Given the description of an element on the screen output the (x, y) to click on. 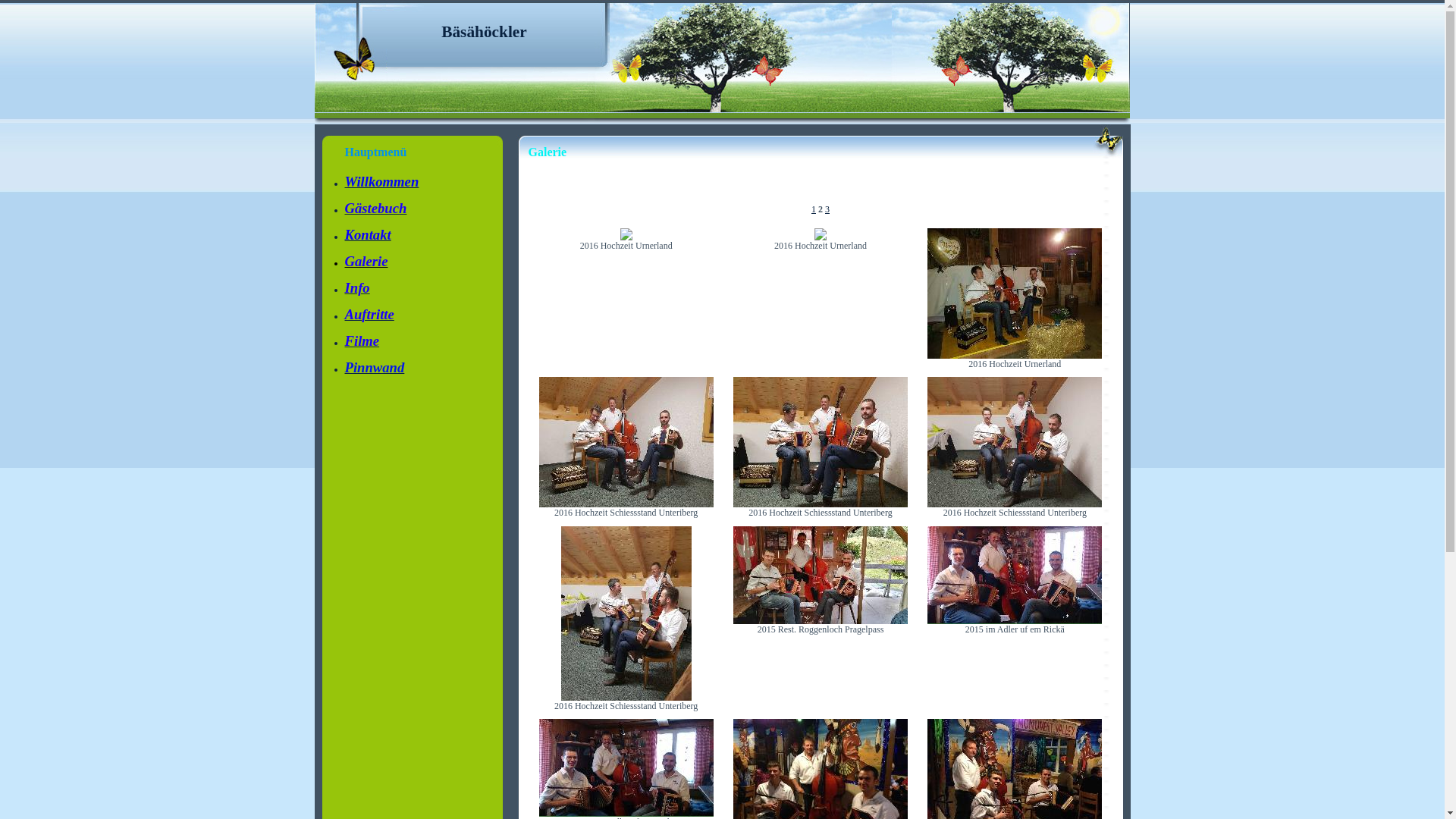
Willkommen Element type: text (381, 183)
Filme Element type: text (361, 342)
3 Element type: text (827, 208)
2016 Hochzeit Urnerland Element type: hover (1014, 355)
2016 Hochzeit Schiessstand Unteriberg Element type: hover (626, 503)
2016 Hochzeit Urnerland Element type: hover (820, 237)
Info Element type: text (356, 289)
2016 Hochzeit Schiessstand Unteriberg Element type: hover (820, 503)
2016 Hochzeit Schiessstand Unteriberg Element type: hover (1014, 503)
Galerie Element type: text (365, 262)
Kontakt Element type: text (367, 236)
2016 Hochzeit Urnerland Element type: hover (626, 237)
Auftritte Element type: text (368, 315)
2015 Rest. Roggenloch Pragelpass Element type: hover (820, 620)
1 Element type: text (813, 208)
Pinnwand Element type: text (374, 369)
2016 Hochzeit Schiessstand Unteriberg Element type: hover (626, 697)
